Given the description of an element on the screen output the (x, y) to click on. 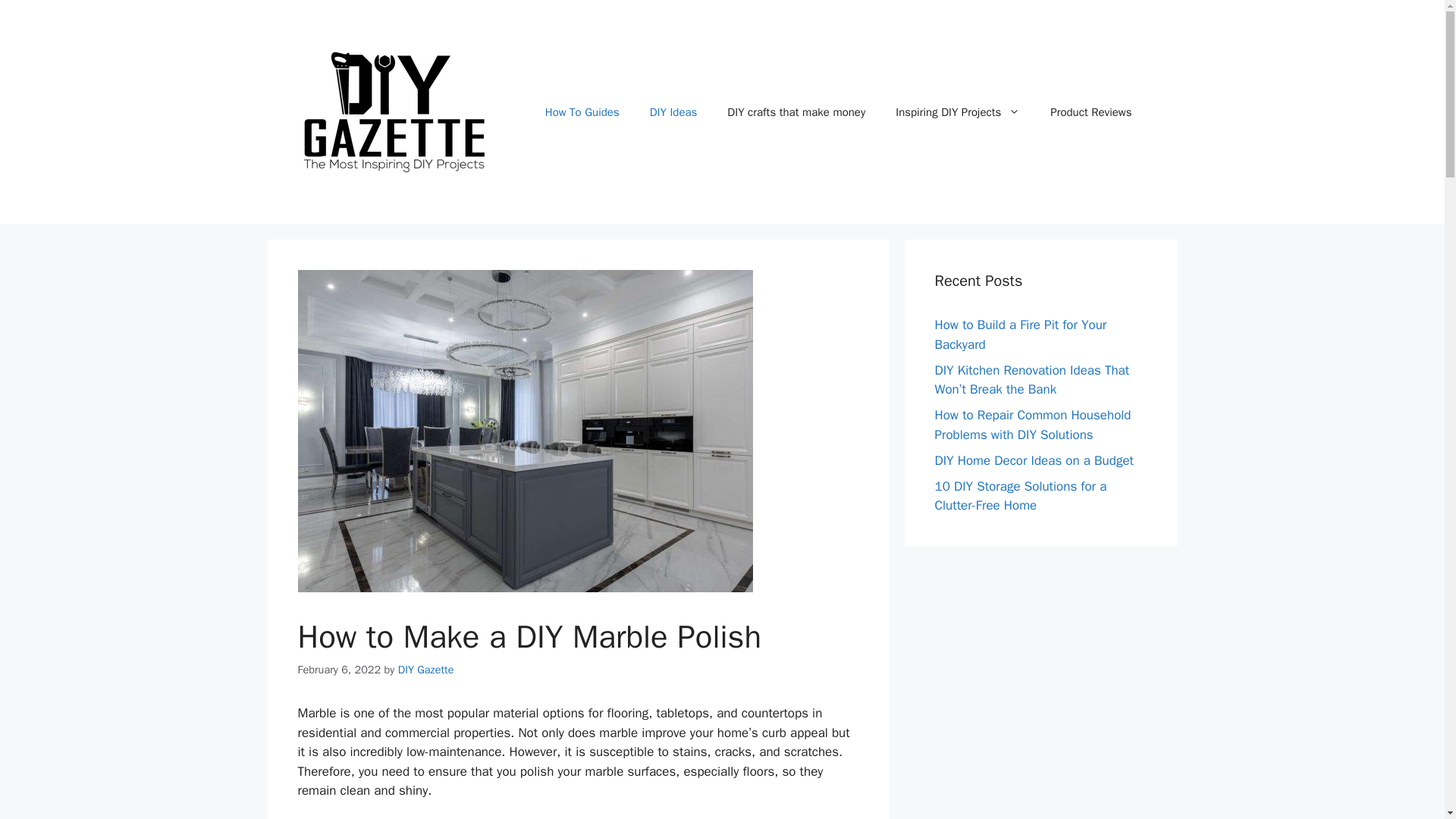
DIY Home Decor Ideas on a Budget (1033, 459)
View all posts by DIY Gazette (425, 669)
How to Repair Common Household Problems with DIY Solutions (1032, 425)
DIY Ideas (673, 112)
10 DIY Storage Solutions for a Clutter-Free Home (1020, 495)
Product Reviews (1091, 112)
DIY crafts that make money (795, 112)
Inspiring DIY Projects (957, 112)
DIY Gazette (425, 669)
How to Build a Fire Pit for Your Backyard (1020, 334)
